Given the description of an element on the screen output the (x, y) to click on. 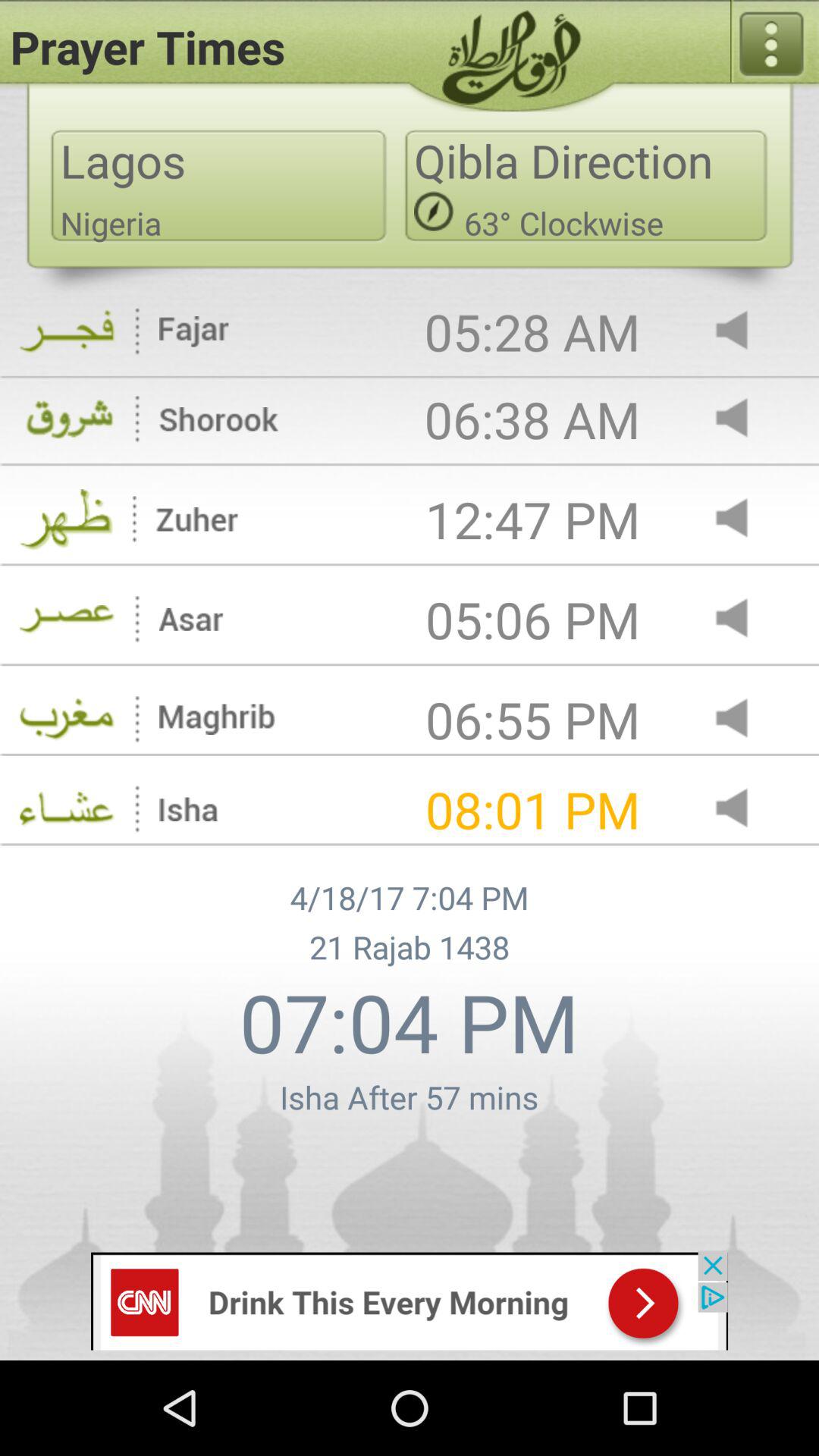
click on the icon fajar (194, 331)
move to the button which is left to the maghrib (67, 719)
select the text which is to the left side of the 0506 pm (191, 619)
